Given the description of an element on the screen output the (x, y) to click on. 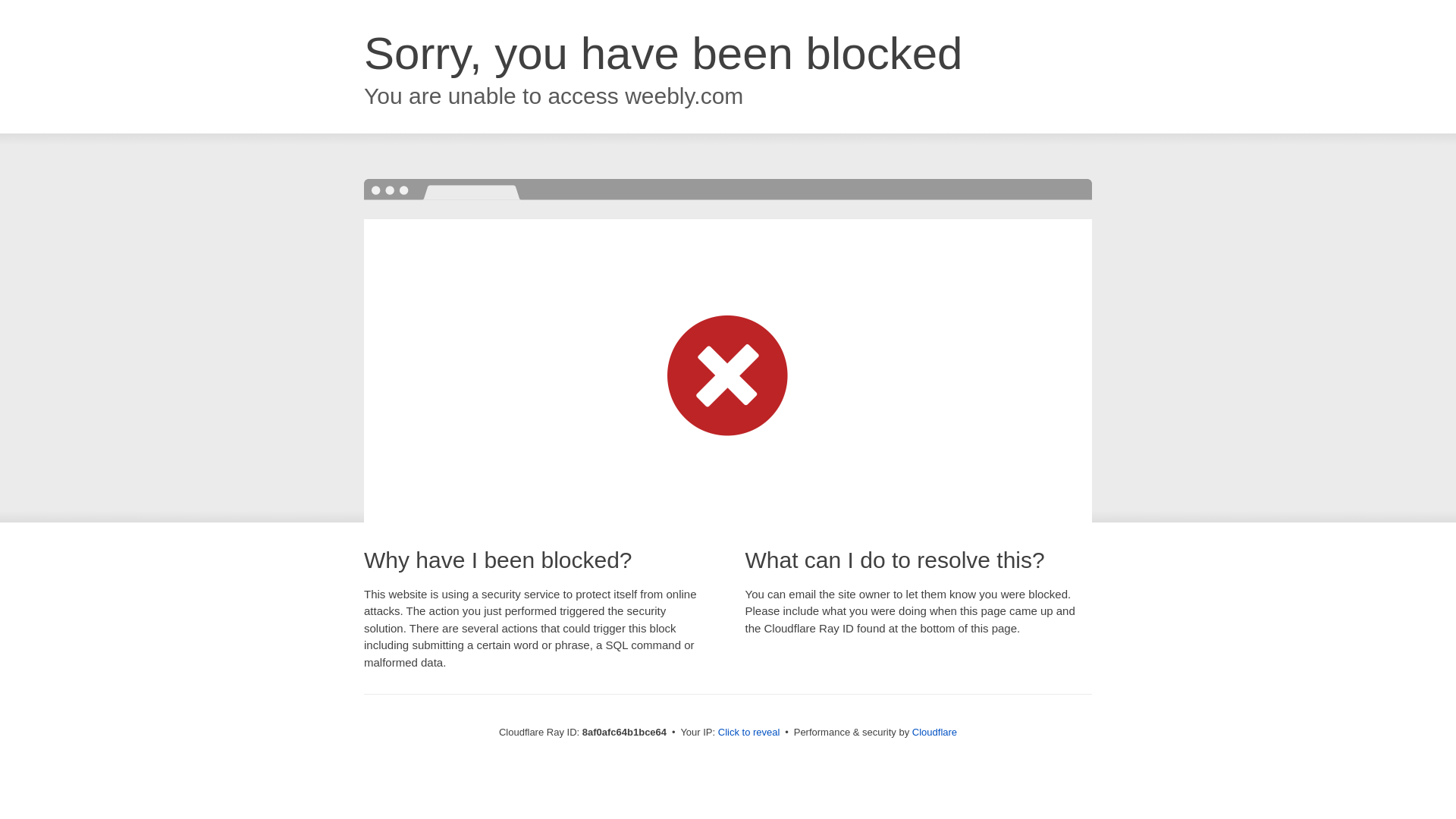
Cloudflare (934, 731)
Click to reveal (748, 732)
